Given the description of an element on the screen output the (x, y) to click on. 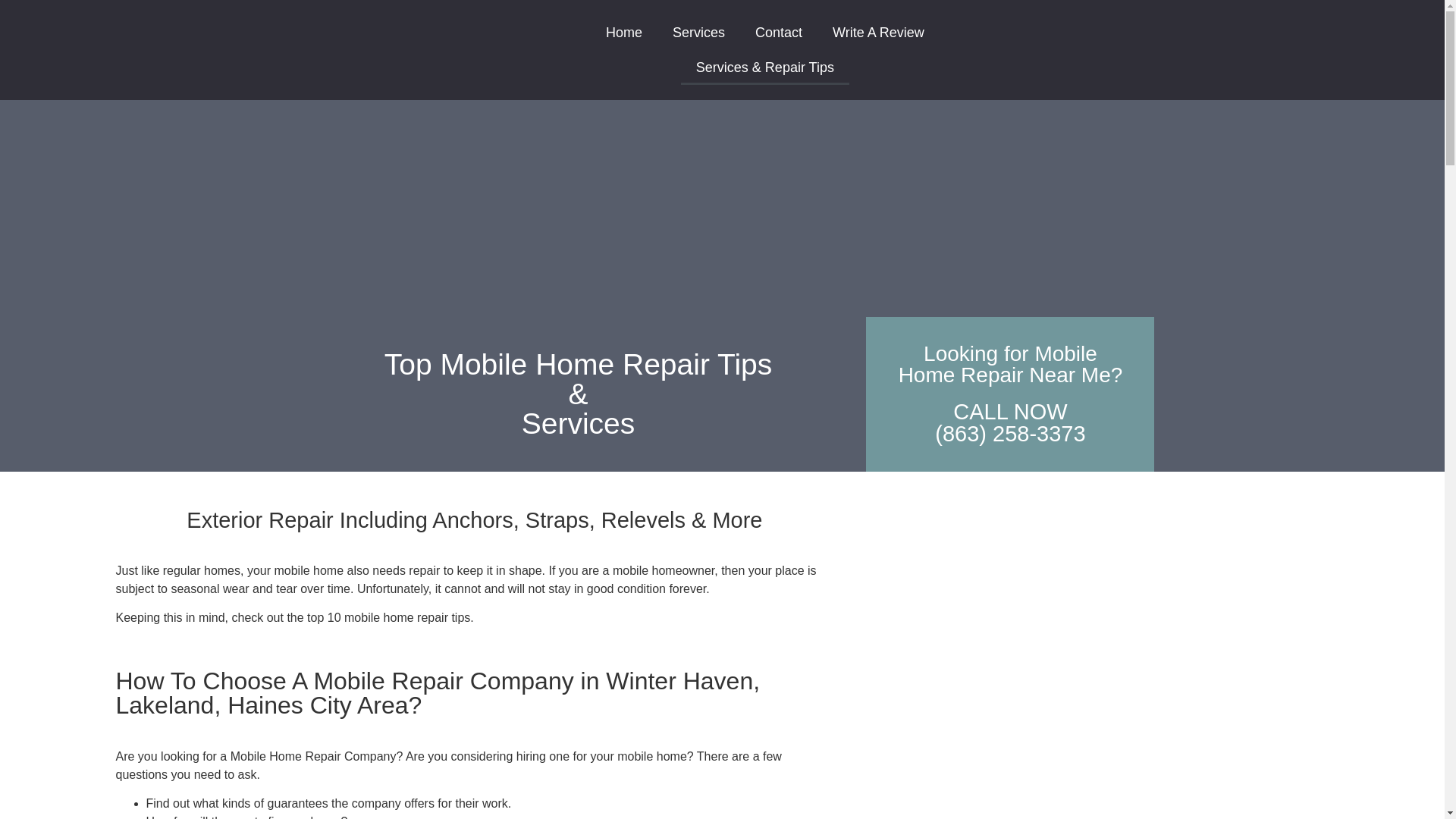
Services (698, 32)
Contact (777, 32)
Write A Review (877, 32)
Home (624, 32)
